Given the description of an element on the screen output the (x, y) to click on. 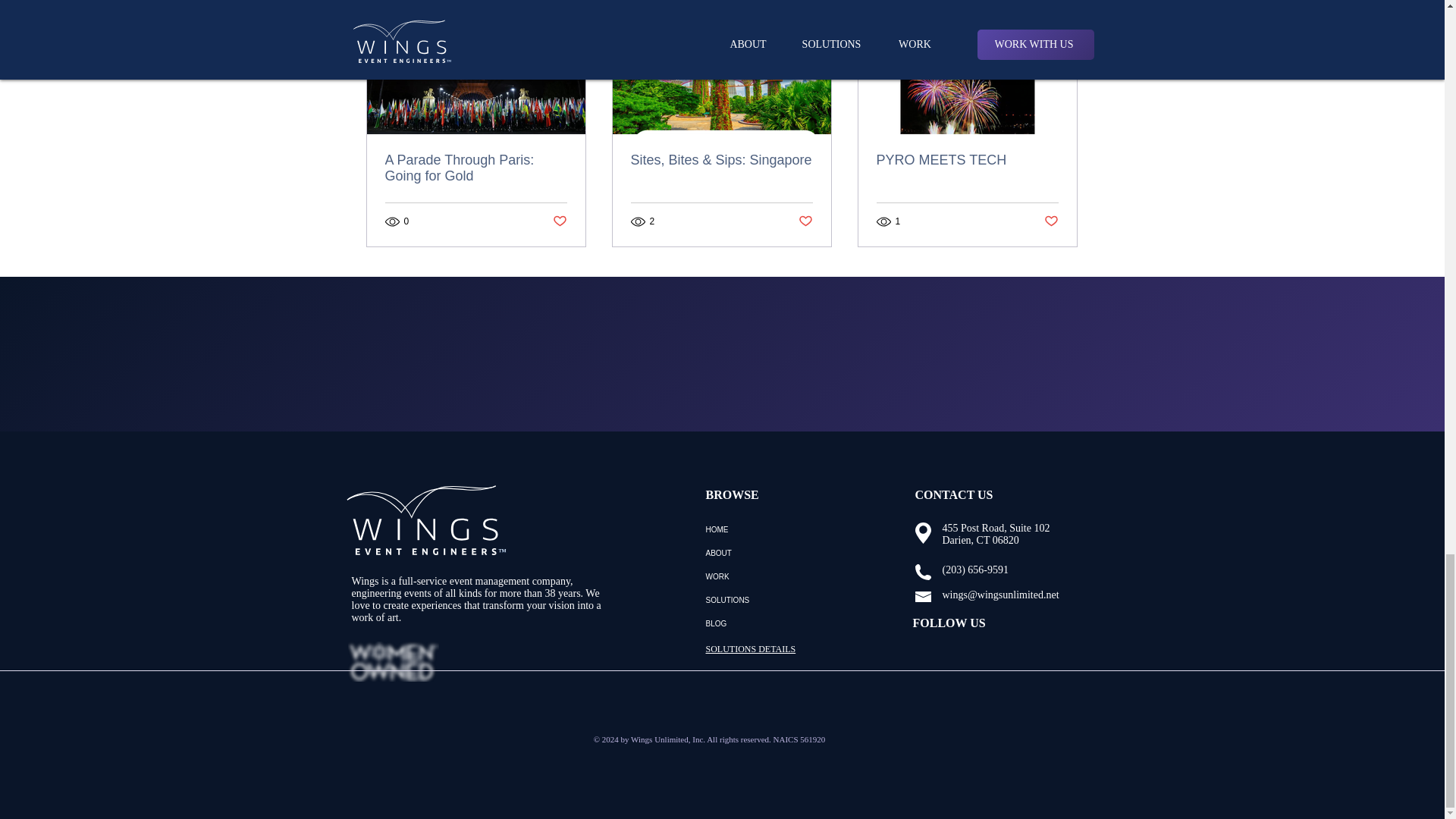
Post not marked as liked (558, 221)
A Parade Through Paris: Going for Gold (476, 168)
Post not marked as liked (804, 221)
PYRO MEETS TECH (967, 160)
Post not marked as liked (1050, 221)
